Given the description of an element on the screen output the (x, y) to click on. 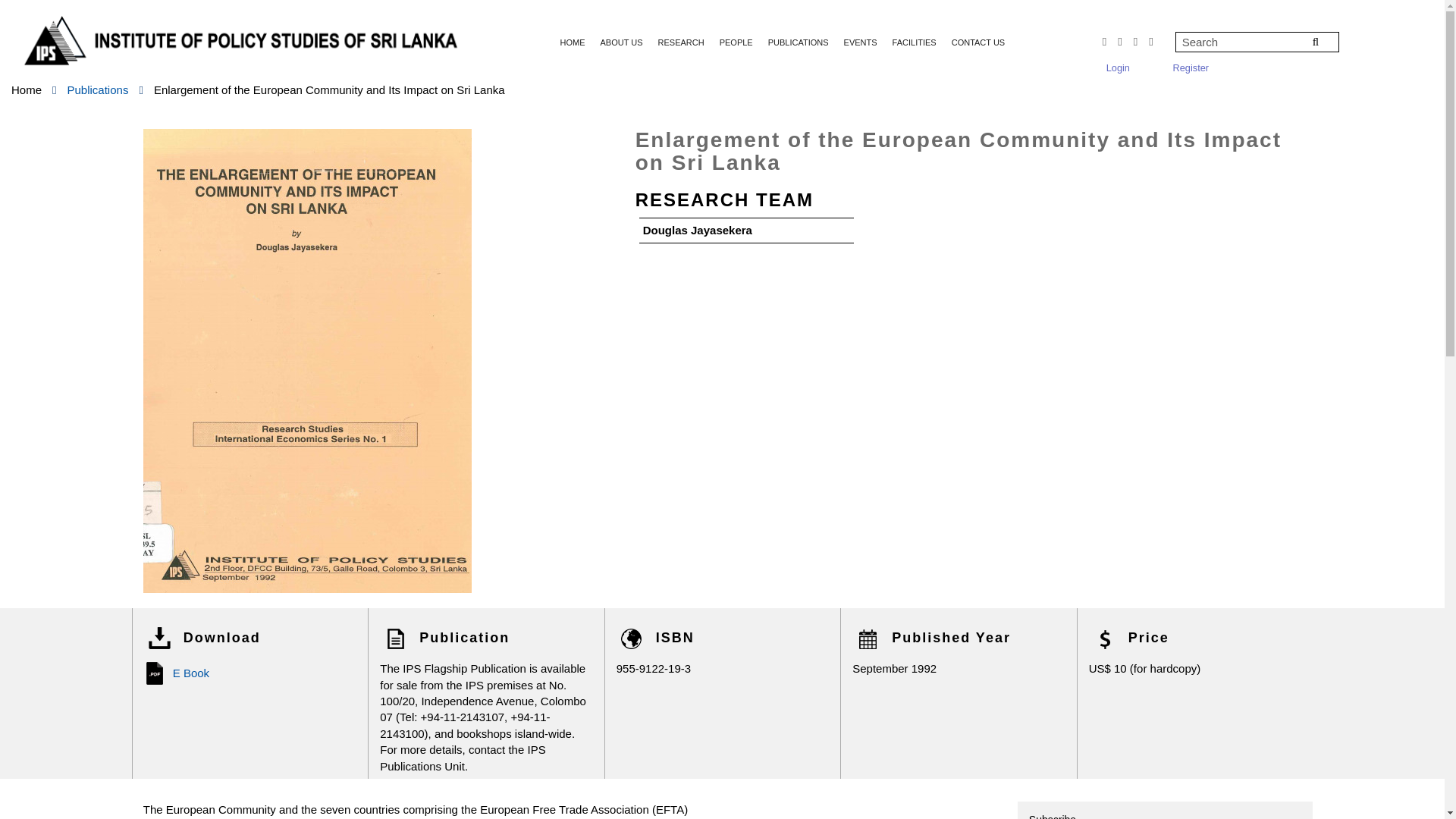
HOME (572, 42)
Home (26, 89)
EVENTS (860, 42)
State of the economy 2015 (329, 89)
PUBLICATIONS (797, 42)
RESEARCH (680, 42)
FACILITIES (914, 42)
ABOUT US (621, 42)
PEOPLE (735, 42)
CONTACT US (978, 42)
